Given the description of an element on the screen output the (x, y) to click on. 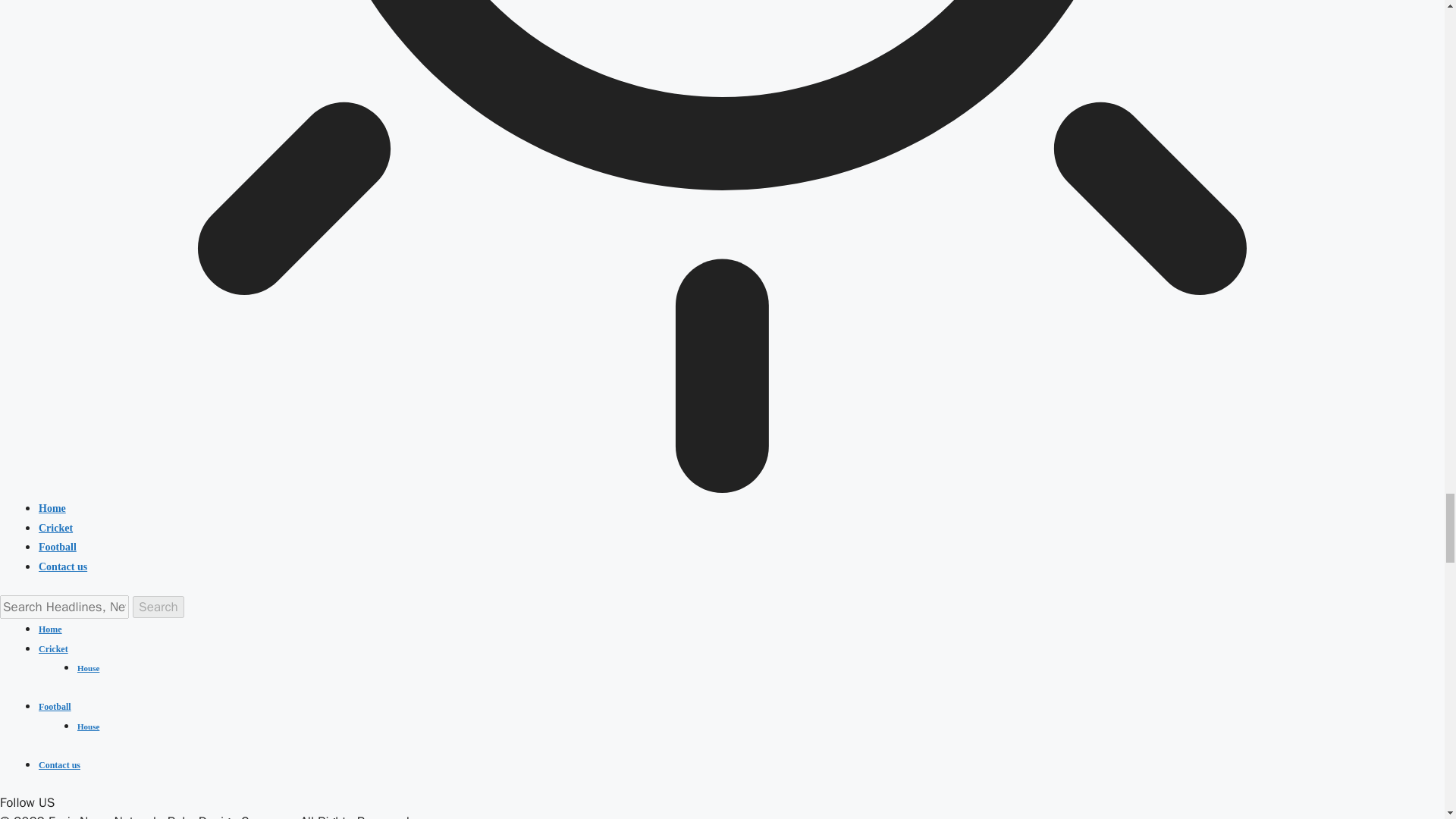
Football (55, 706)
Home (52, 508)
House (88, 667)
House (88, 726)
Search (158, 607)
Contact us (63, 566)
Search (158, 607)
Cricket (55, 527)
Home (50, 629)
Contact us (59, 765)
Football (58, 546)
Cricket (53, 647)
